Given the description of an element on the screen output the (x, y) to click on. 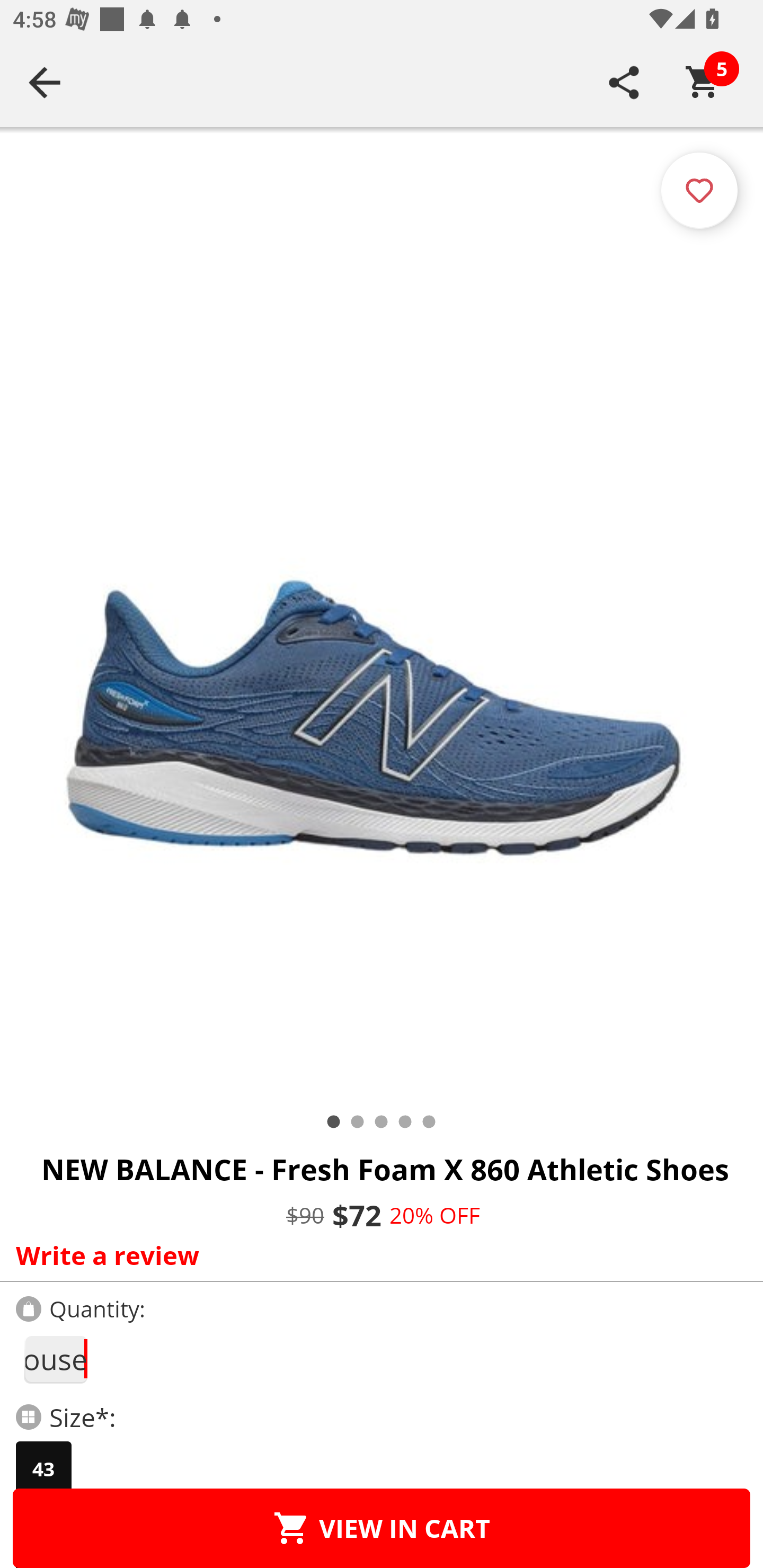
Navigate up (44, 82)
SHARE (623, 82)
Cart (703, 81)
Write a review (377, 1255)
1mouse (55, 1358)
43 (43, 1468)
VIEW IN CART (381, 1528)
